Given the description of an element on the screen output the (x, y) to click on. 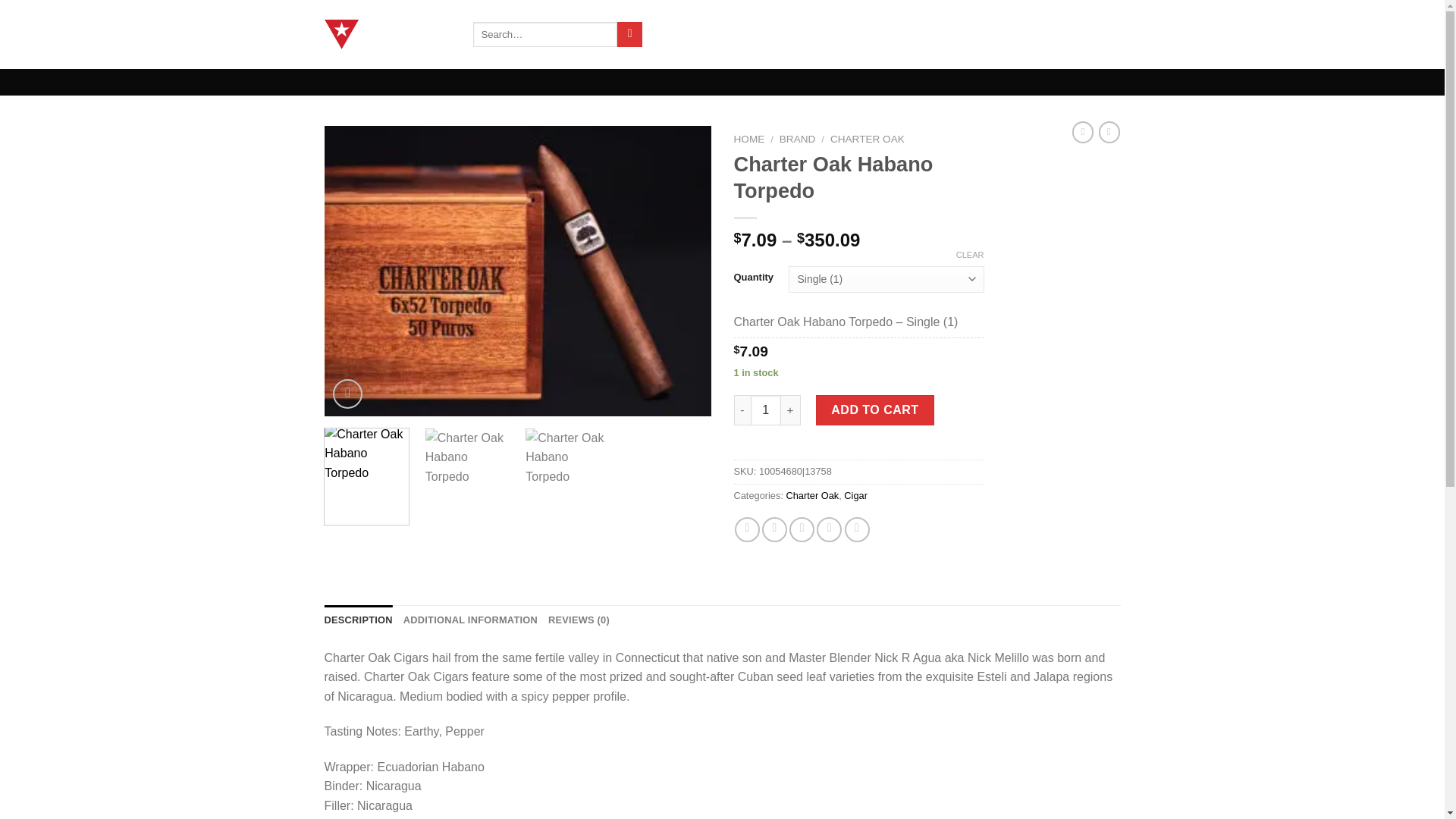
Email to a Friend (801, 529)
Cart (1074, 34)
HOME (749, 138)
Search (629, 34)
DESCRIPTION (358, 620)
Share on Facebook (747, 529)
Share on Twitter (774, 529)
Share on LinkedIn (856, 529)
ADD TO CART (874, 409)
Zoom (347, 393)
LOGIN (991, 33)
Charter Oak (812, 495)
Pin on Pinterest (828, 529)
Charter Oak Habano Torpedo (517, 271)
Cigar (855, 495)
